Given the description of an element on the screen output the (x, y) to click on. 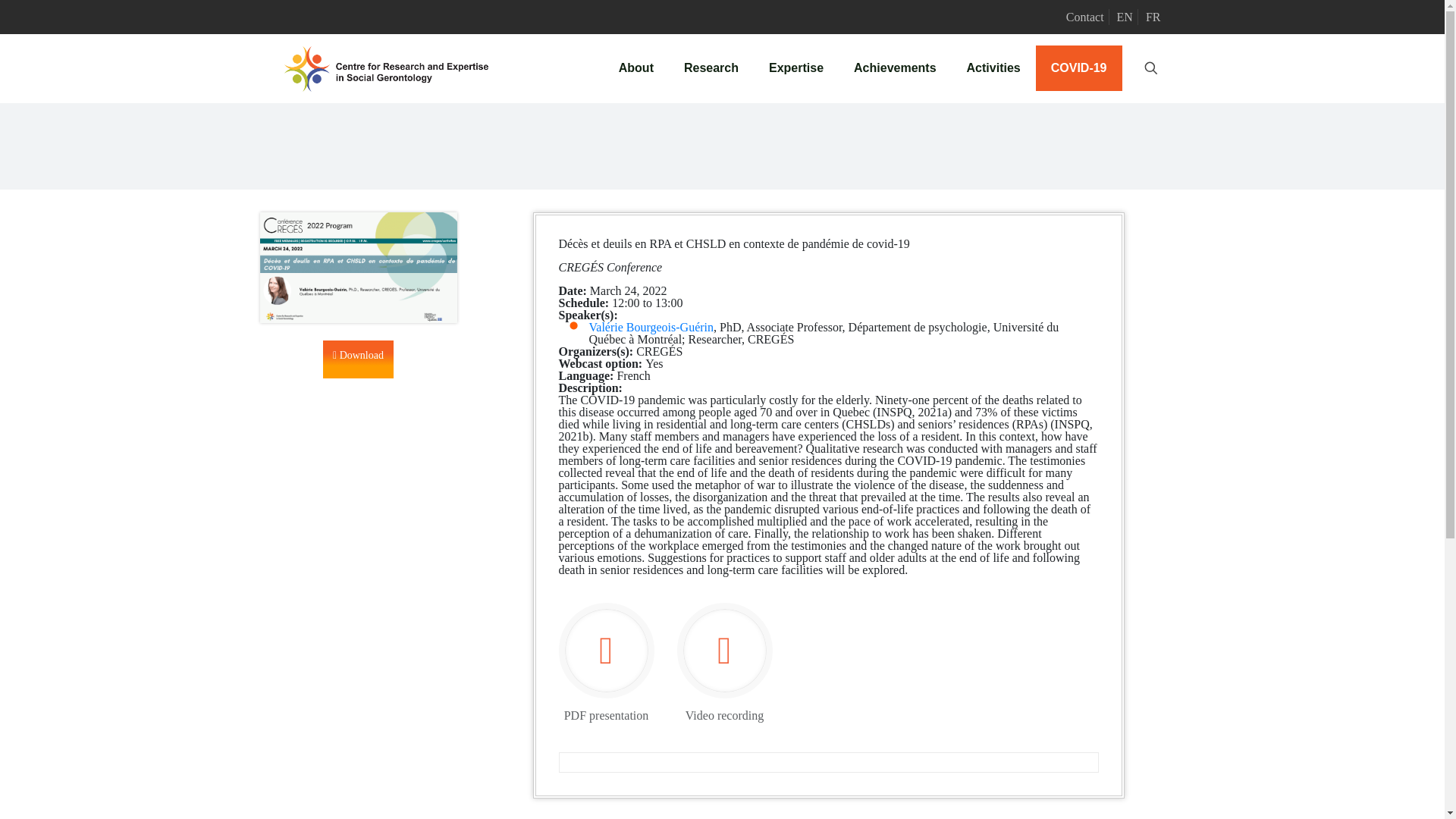
Activities (993, 68)
FR (1152, 17)
COVID-19 (1078, 68)
Expertise (796, 68)
EN (1124, 17)
Contact (1084, 16)
EN (1124, 17)
Download (358, 359)
About (636, 68)
Research (711, 68)
Achievements (895, 68)
FR (1152, 17)
